Given the description of an element on the screen output the (x, y) to click on. 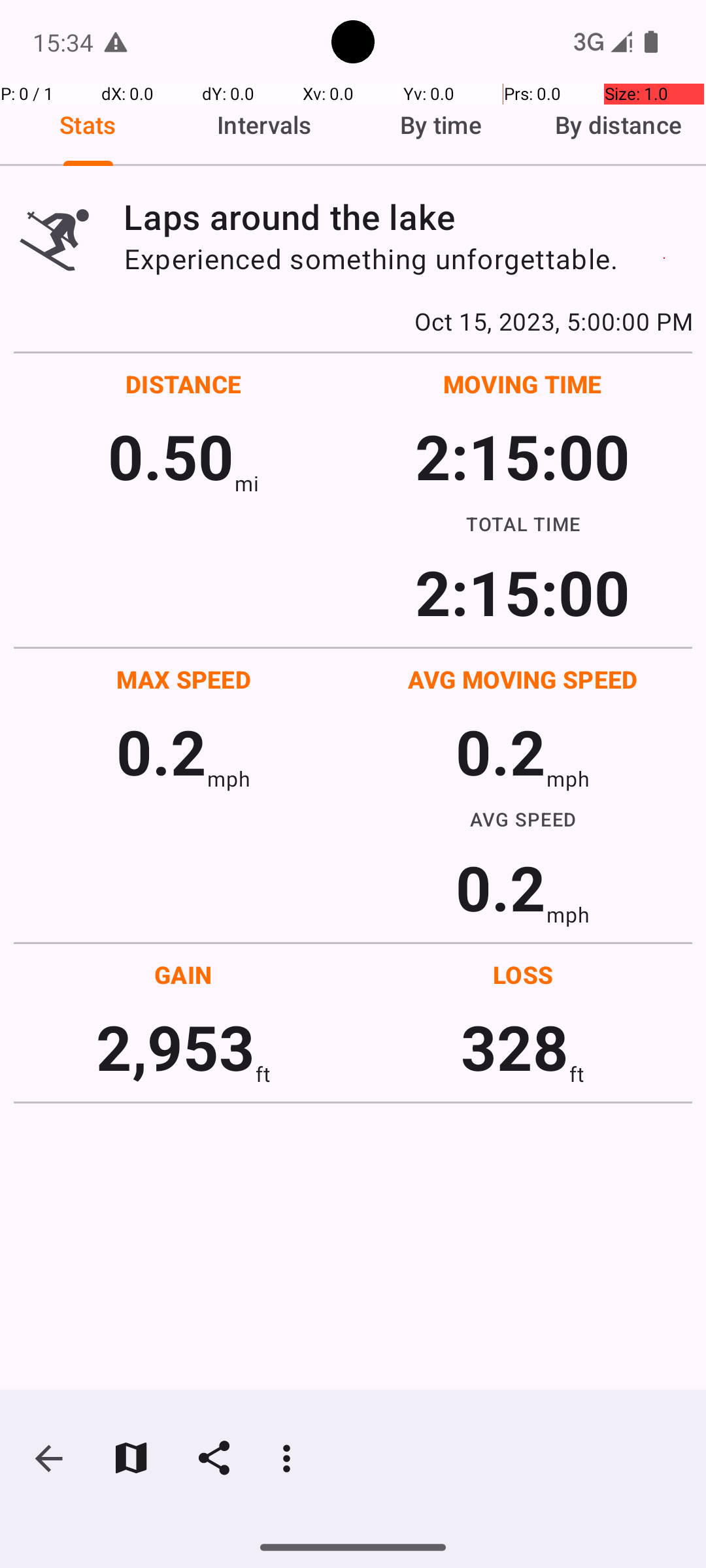
Stats Element type: android.widget.LinearLayout (88, 124)
Intervals Element type: android.widget.LinearLayout (264, 124)
By time Element type: android.widget.LinearLayout (441, 124)
By distance Element type: android.widget.LinearLayout (617, 124)
Show on map Element type: android.widget.Button (130, 1458)
Laps around the lake Element type: android.widget.TextView (407, 216)
Experienced something unforgettable. Element type: android.widget.TextView (407, 258)
Oct 15, 2023, 5:00:00 PM Element type: android.widget.TextView (352, 320)
DISTANCE Element type: android.widget.TextView (183, 383)
MOVING TIME Element type: android.widget.TextView (522, 383)
0.50 Element type: android.widget.TextView (170, 455)
mi Element type: android.widget.TextView (246, 483)
2:15:00 Element type: android.widget.TextView (522, 455)
TOTAL TIME Element type: android.widget.TextView (522, 523)
MAX SPEED Element type: android.widget.TextView (183, 678)
AVG MOVING SPEED Element type: android.widget.TextView (522, 678)
0.2 Element type: android.widget.TextView (161, 750)
mph Element type: android.widget.TextView (228, 778)
AVG SPEED Element type: android.widget.TextView (522, 818)
GAIN Element type: android.widget.TextView (183, 974)
LOSS Element type: android.widget.TextView (522, 974)
2,953 Element type: android.widget.TextView (175, 1045)
ft Element type: android.widget.TextView (262, 1073)
328 Element type: android.widget.TextView (514, 1045)
